Given the description of an element on the screen output the (x, y) to click on. 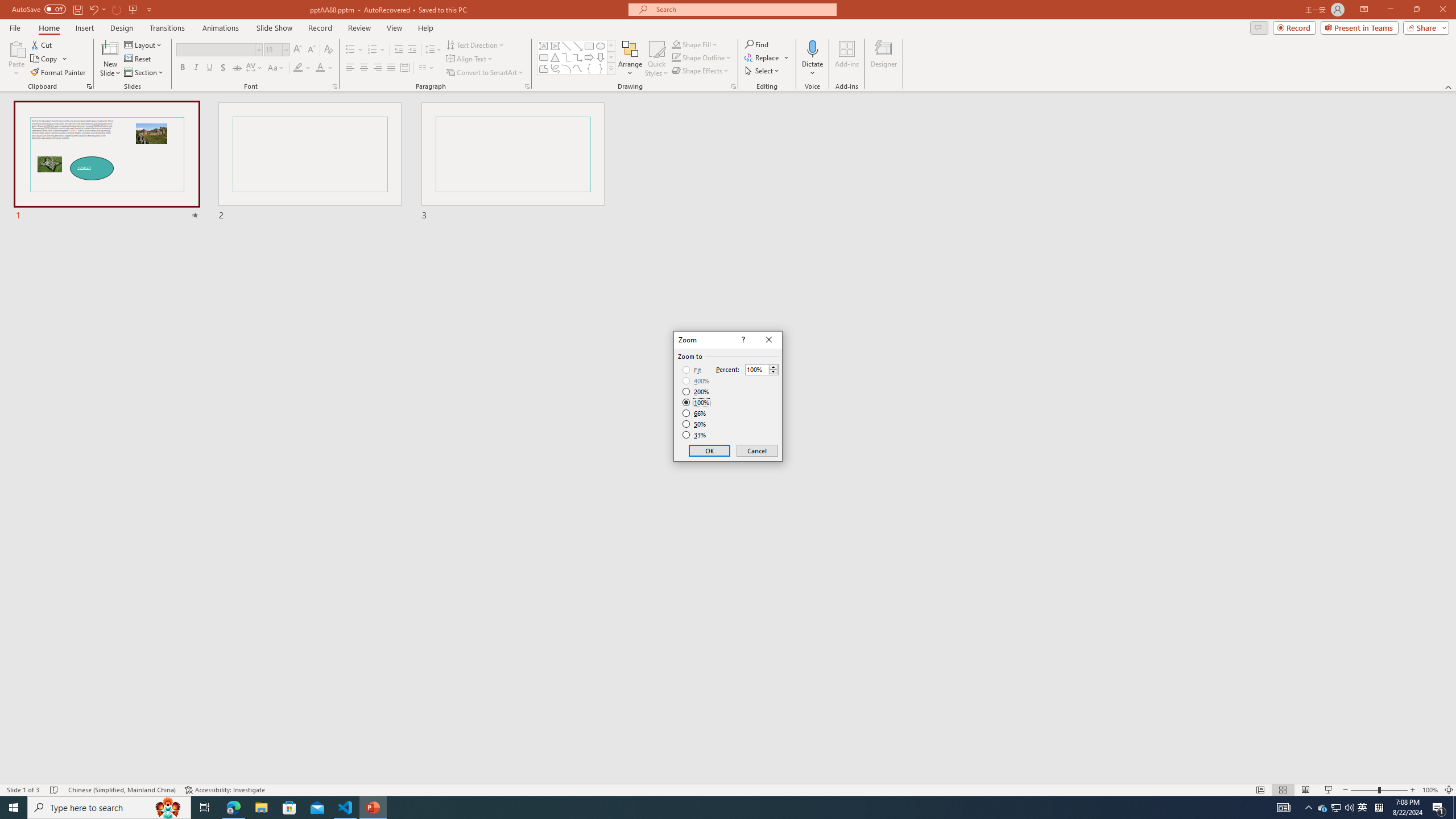
Zoom 100% (1430, 790)
